Given the description of an element on the screen output the (x, y) to click on. 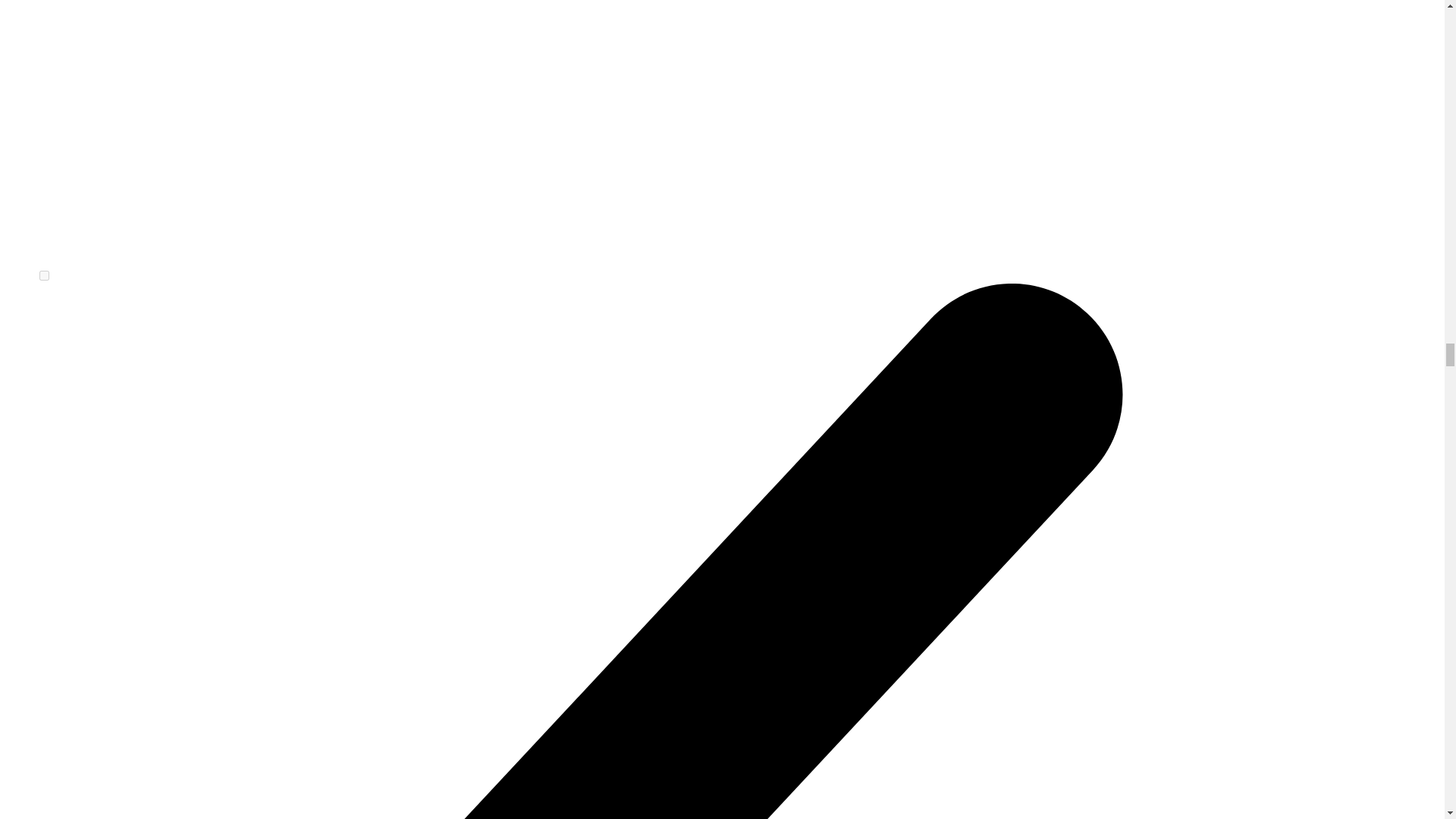
on (44, 275)
